Given the description of an element on the screen output the (x, y) to click on. 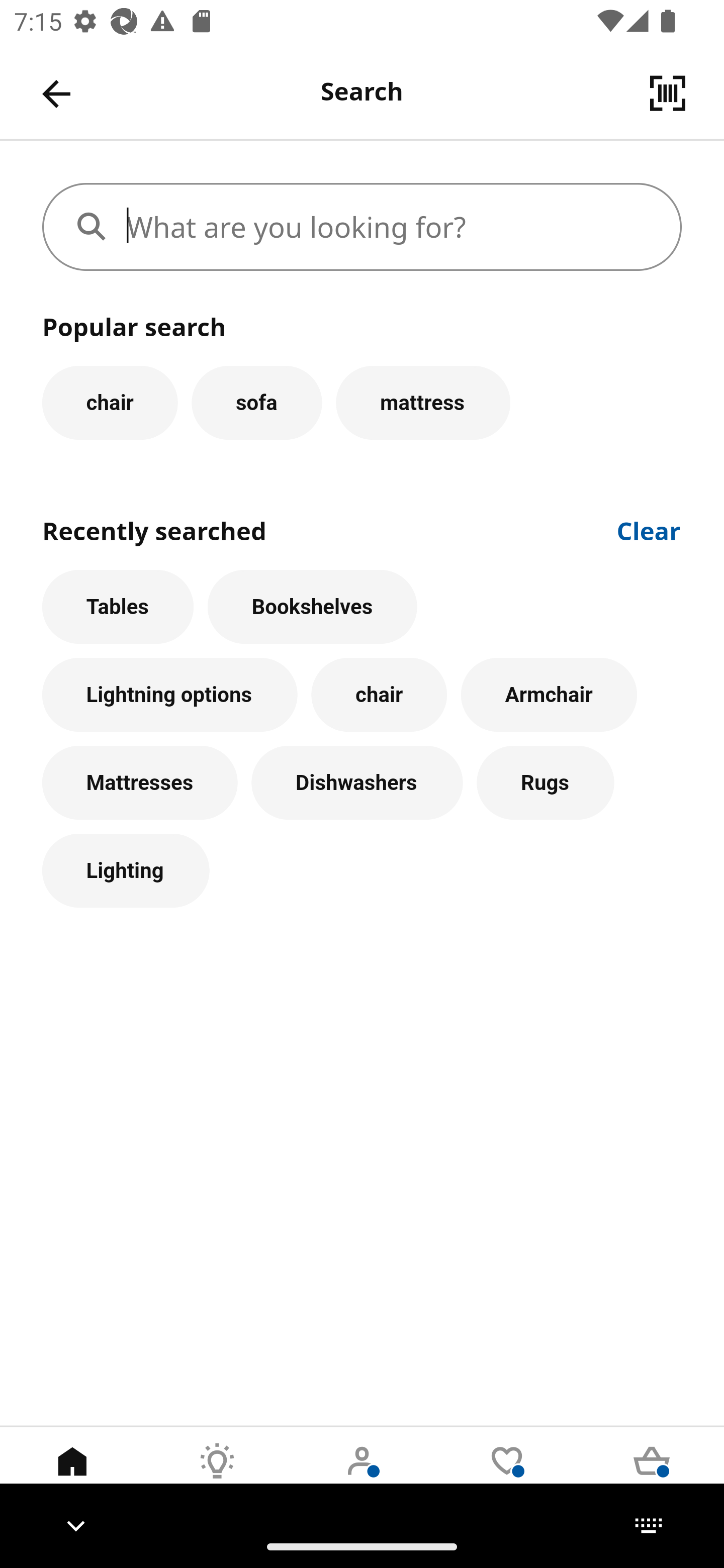
chair (109, 402)
sofa (256, 402)
mattress (423, 402)
Clear (649, 528)
Tables (117, 606)
Bookshelves (312, 606)
Lightning options (169, 695)
chair (379, 695)
Armchair (549, 695)
Mattresses (139, 783)
Dishwashers (357, 783)
Rugs (545, 783)
Lighting (125, 870)
Home
Tab 1 of 5 (72, 1476)
Inspirations
Tab 2 of 5 (216, 1476)
User
Tab 3 of 5 (361, 1476)
Wishlist
Tab 4 of 5 (506, 1476)
Cart
Tab 5 of 5 (651, 1476)
